Given the description of an element on the screen output the (x, y) to click on. 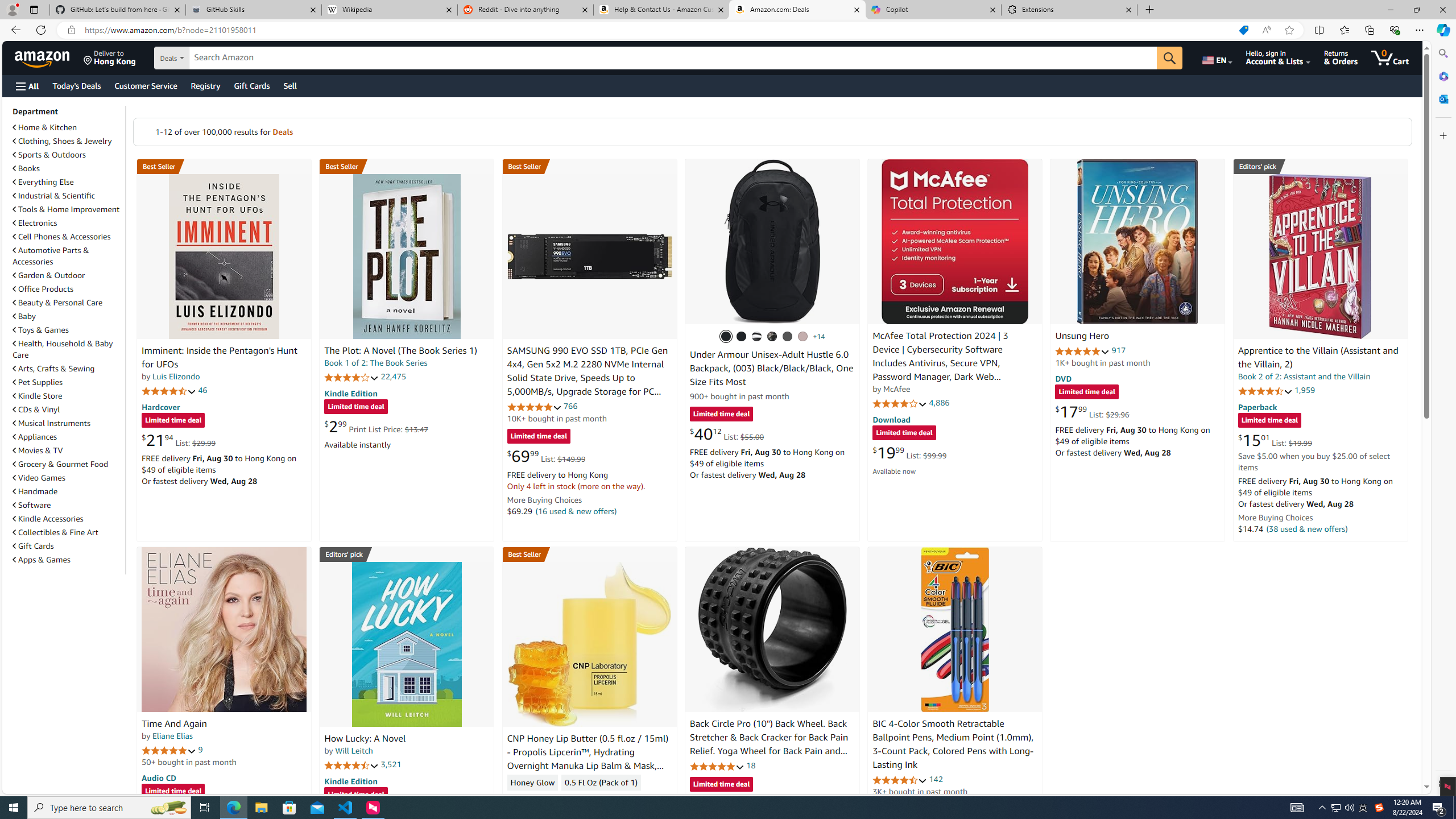
Home & Kitchen (67, 127)
The Plot: A Novel (The Book Series 1) (400, 351)
Deliver to Hong Kong (109, 57)
Handmade (67, 491)
Settings and more (Alt+F) (1419, 29)
917 (1117, 350)
Address and search bar (658, 29)
Extensions (1068, 9)
Pet Supplies (37, 381)
Restore (1416, 9)
Musical Instruments (67, 423)
CDs & Vinyl (67, 409)
Industrial & Scientific (67, 195)
Grocery & Gourmet Food (67, 464)
